Given the description of an element on the screen output the (x, y) to click on. 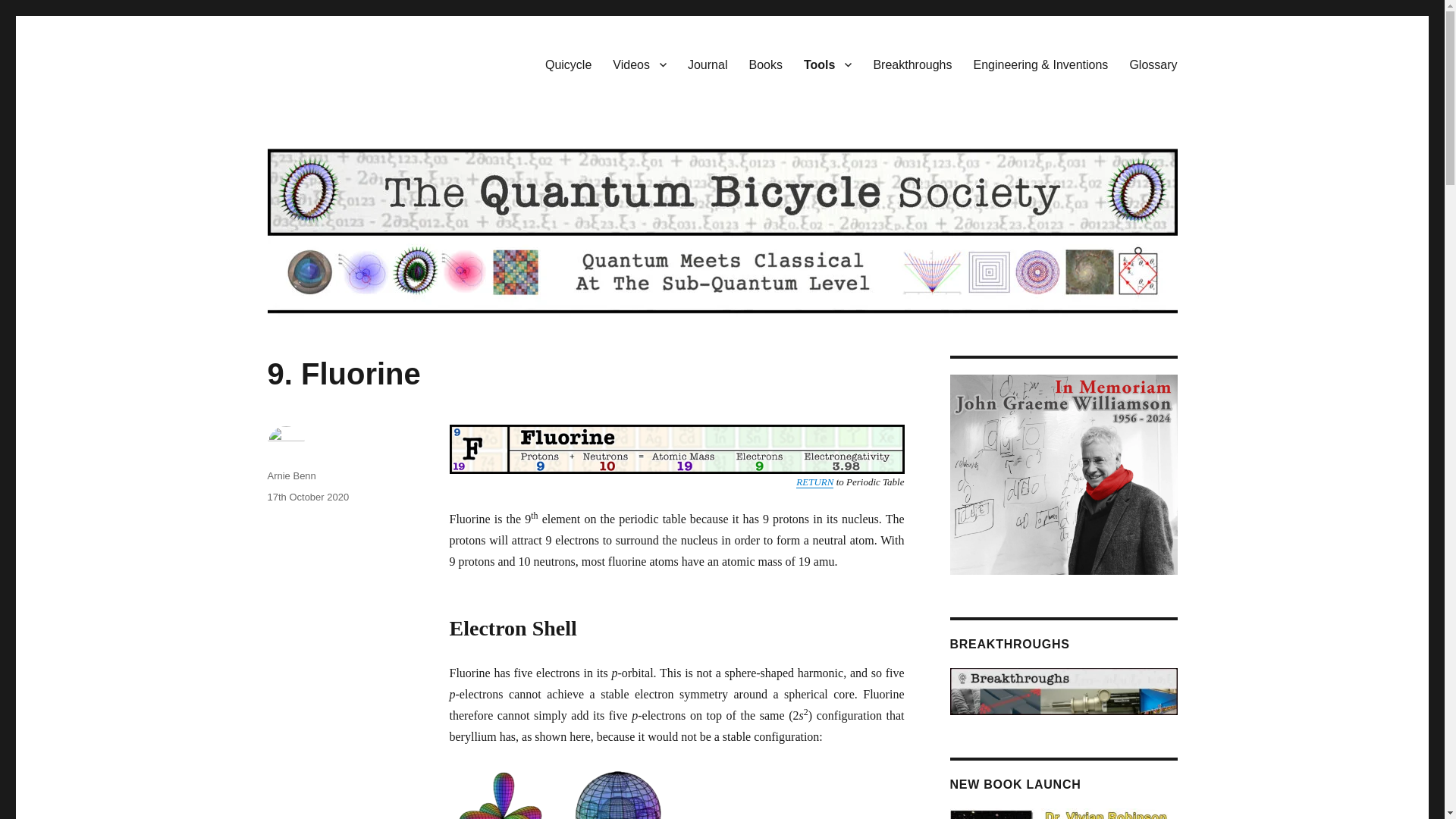
Journal (707, 64)
The Quantum Bicycle Society (416, 61)
Quicycle (568, 64)
Tools (827, 64)
Books (765, 64)
Videos (639, 64)
